Given the description of an element on the screen output the (x, y) to click on. 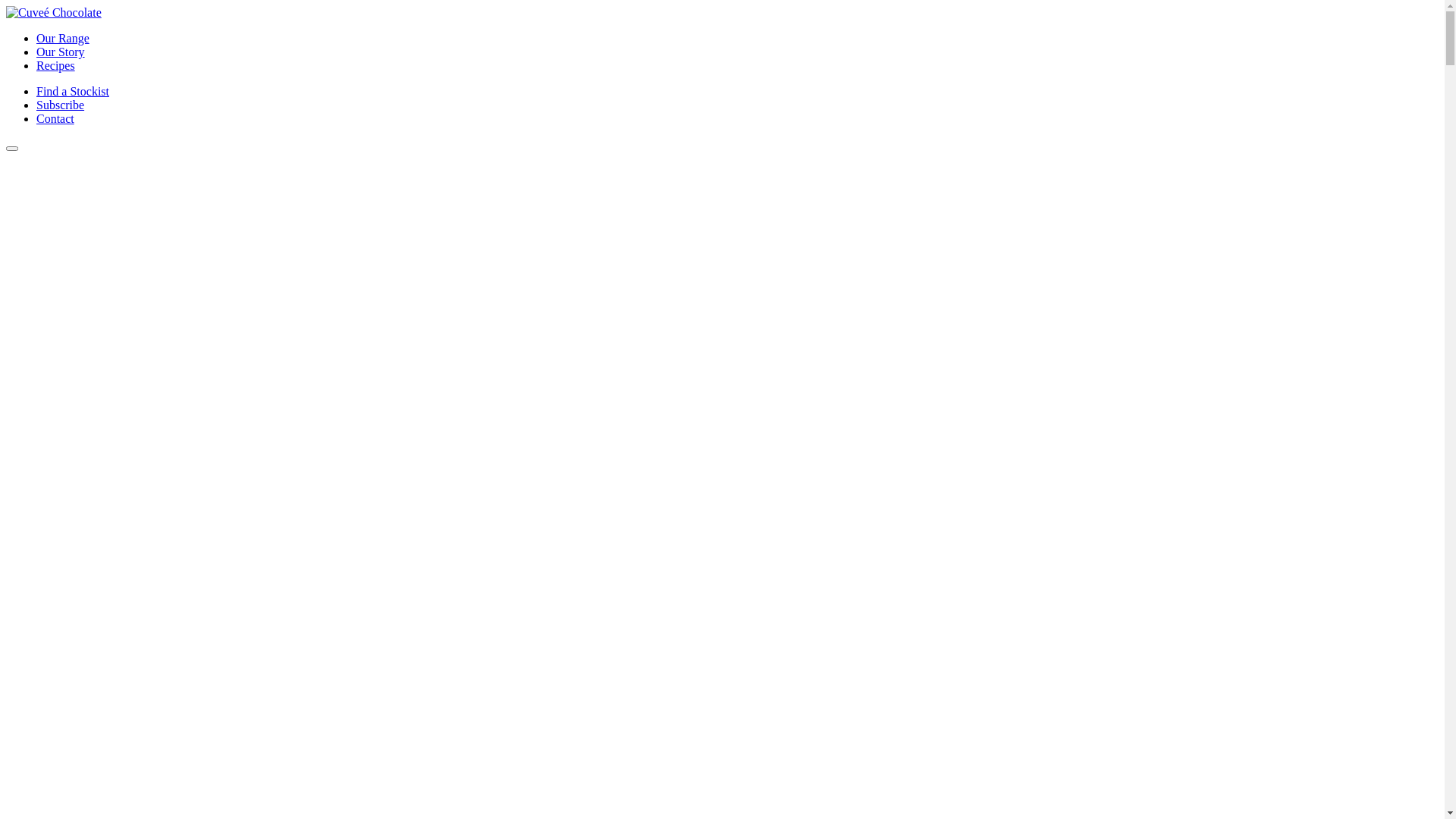
Contact Element type: text (55, 118)
Subscribe Element type: text (60, 104)
Our Range Element type: text (62, 37)
Recipes Element type: text (55, 65)
Find a Stockist Element type: text (72, 90)
Our Story Element type: text (60, 51)
